Given the description of an element on the screen output the (x, y) to click on. 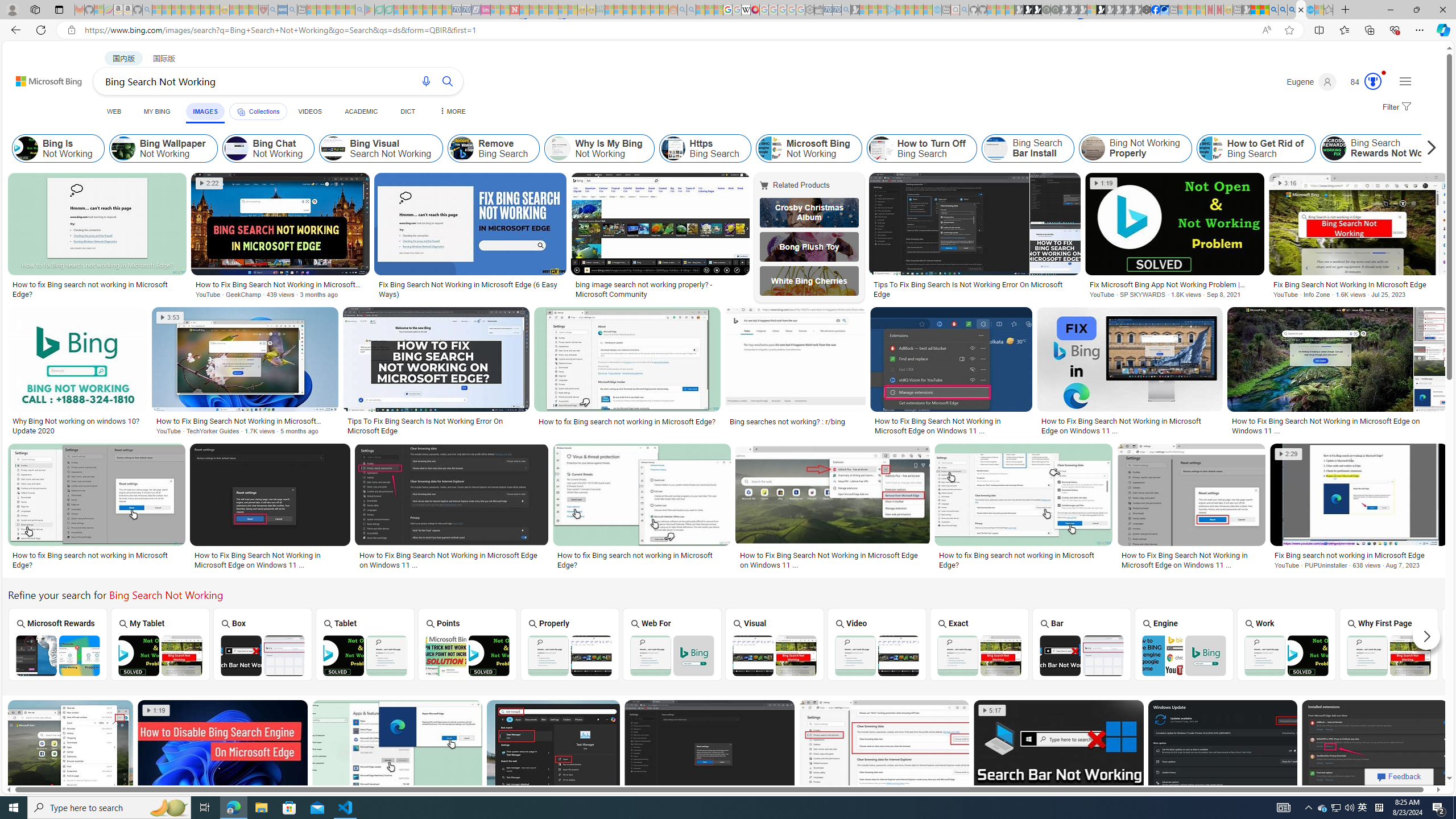
How to fix Bing search not working in Microsoft Edge? (1023, 560)
Bing Not Working Properly (1134, 148)
Microsoft Bing Not Working (808, 148)
1:19 (156, 710)
AutomationID: rh_meter (1372, 80)
Exact (978, 643)
